Given the description of an element on the screen output the (x, y) to click on. 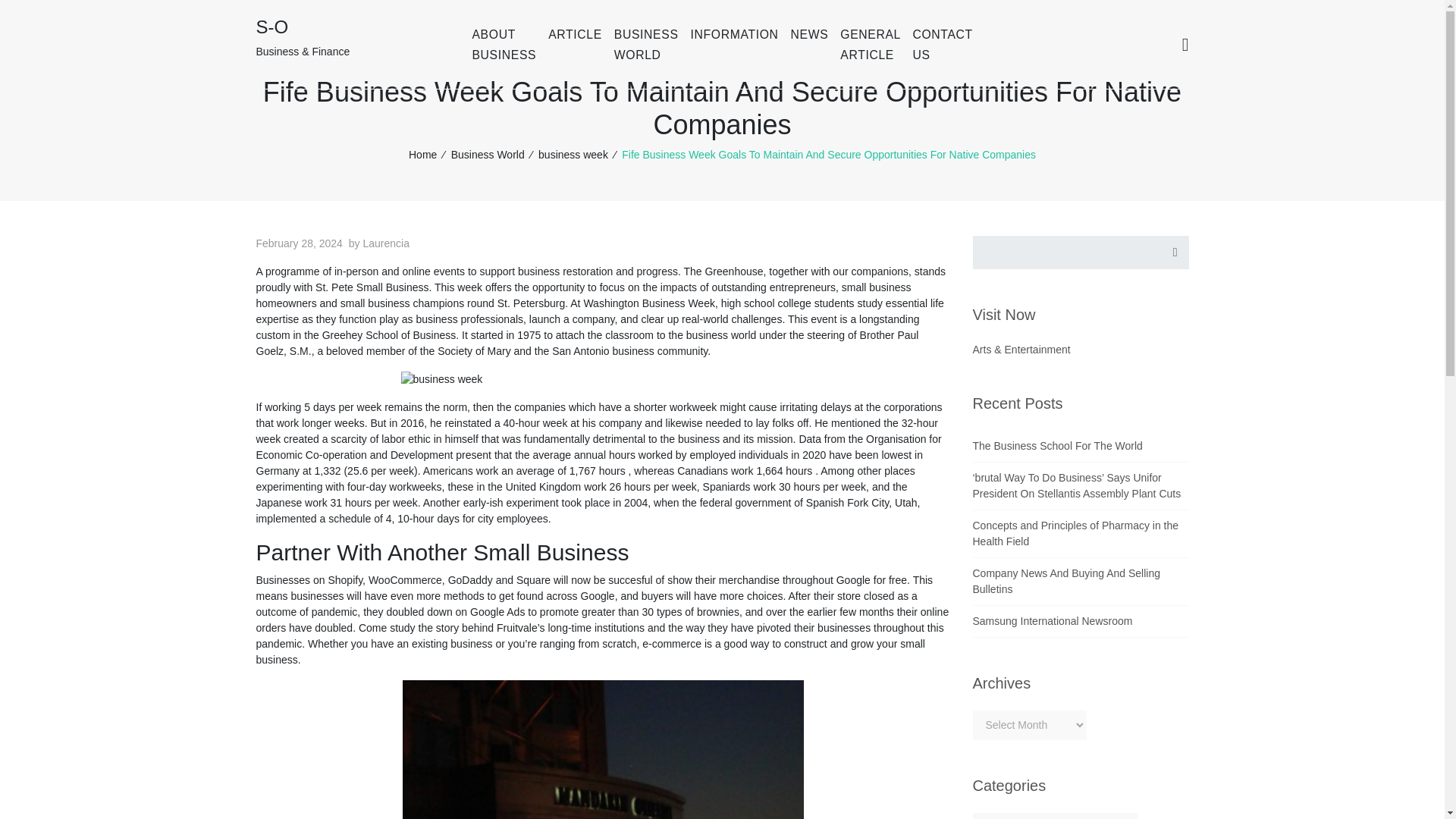
Business World (646, 44)
ARTICLE (574, 34)
Article (574, 34)
business week (573, 154)
NEWS (809, 34)
ABOUT BUSINESS (503, 44)
S-O (272, 26)
INFORMATION (734, 34)
February 28, 2024 (299, 243)
GENERAL ARTICLE (869, 44)
